Given the description of an element on the screen output the (x, y) to click on. 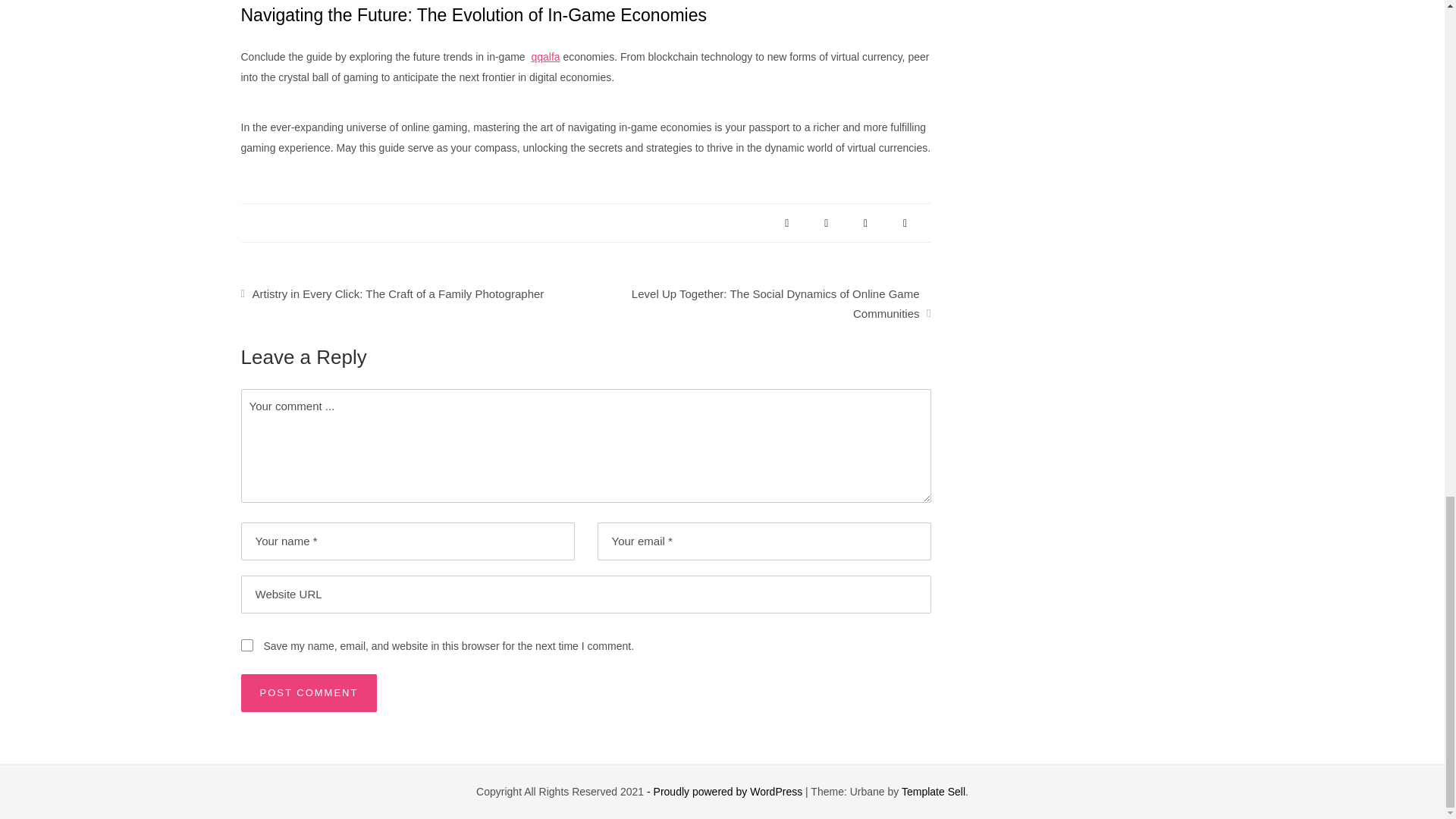
Post Comment (309, 692)
yes (247, 645)
Artistry in Every Click: The Craft of a Family Photographer (412, 290)
qqalfa (545, 56)
- Proudly powered by WordPress (725, 791)
Post Comment (309, 692)
Template Sell (933, 791)
